Given the description of an element on the screen output the (x, y) to click on. 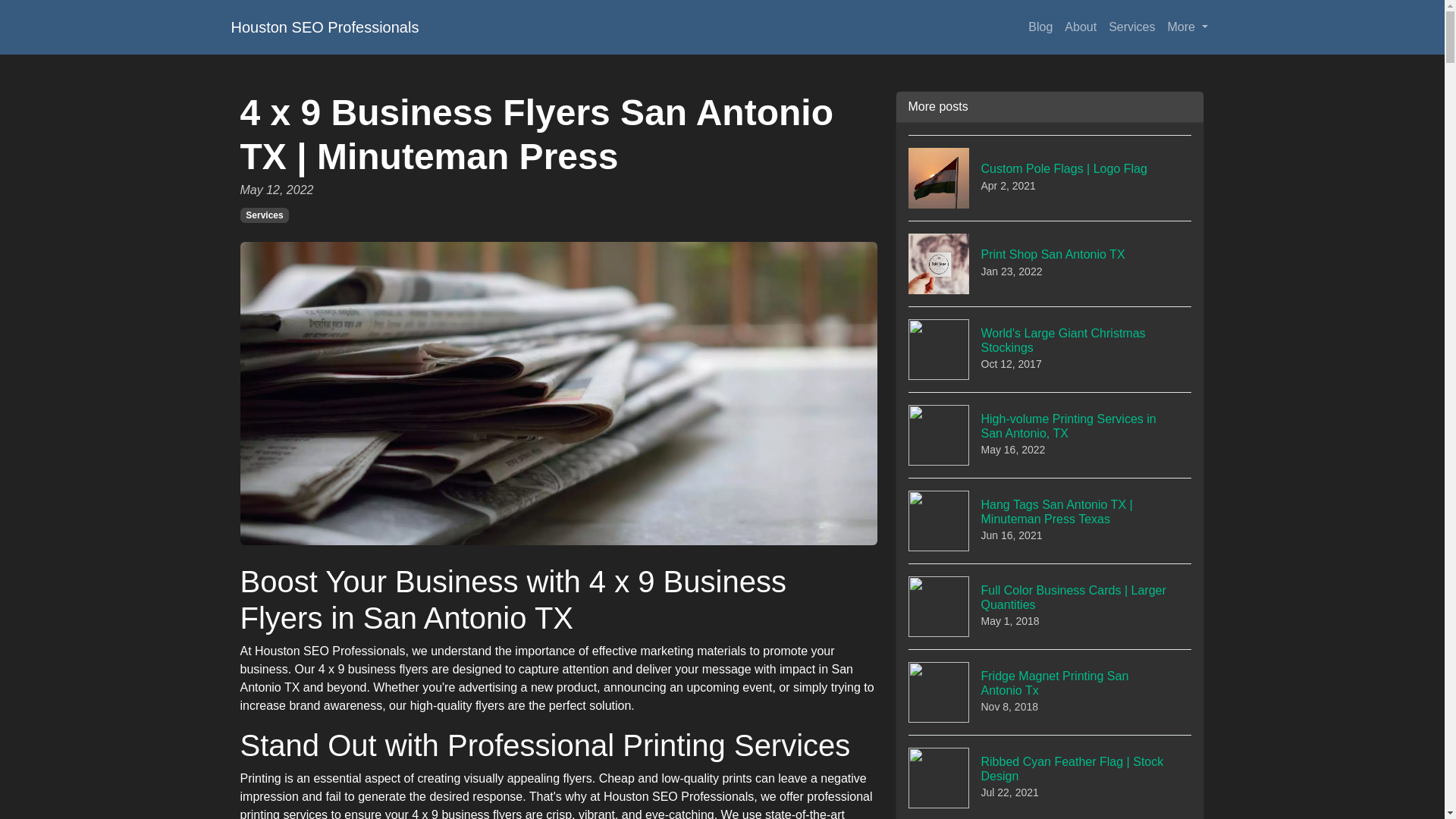
Services (1050, 691)
Houston SEO Professionals (1131, 27)
Services (324, 27)
Blog (264, 215)
More (1050, 263)
About (1050, 349)
